Given the description of an element on the screen output the (x, y) to click on. 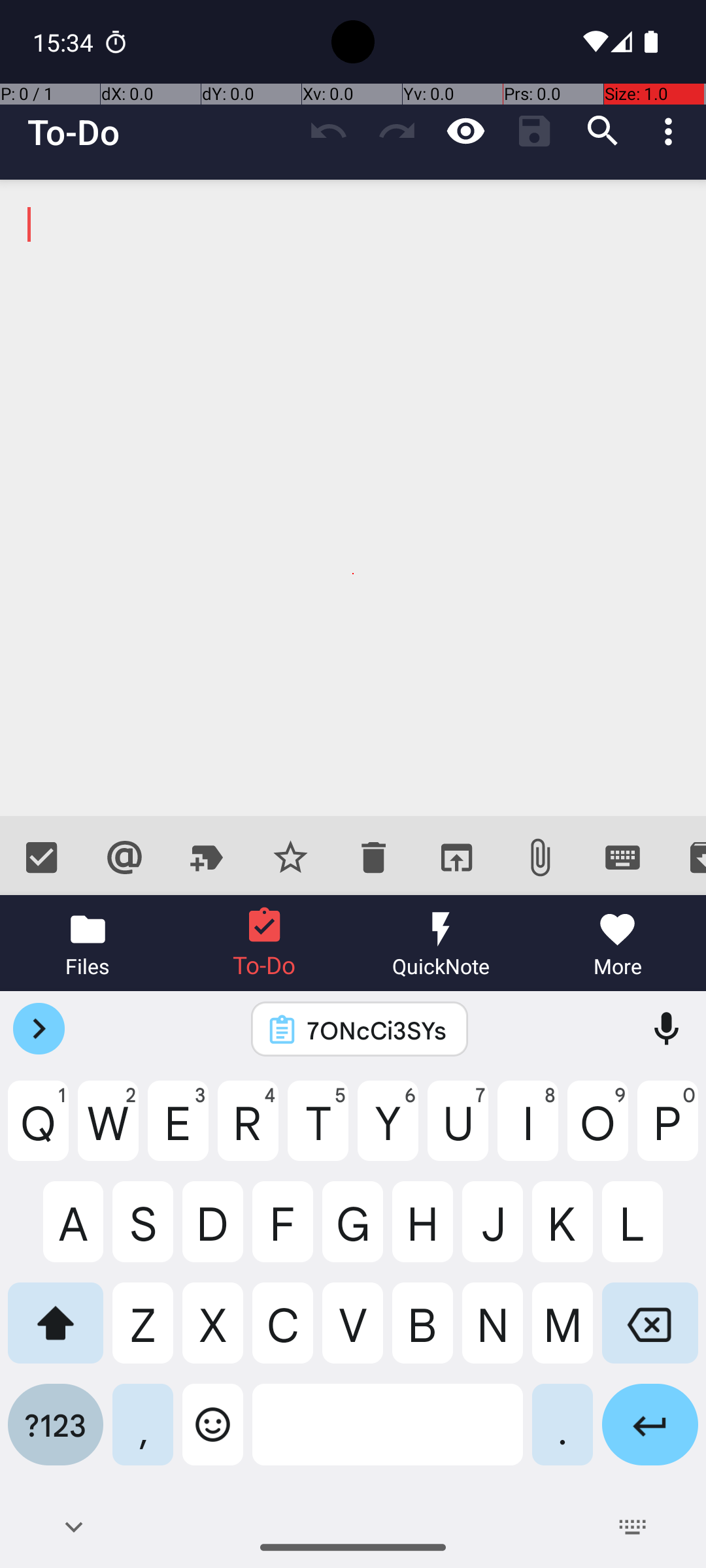
7ONcCi3SYs Element type: android.widget.TextView (376, 1029)
